Given the description of an element on the screen output the (x, y) to click on. 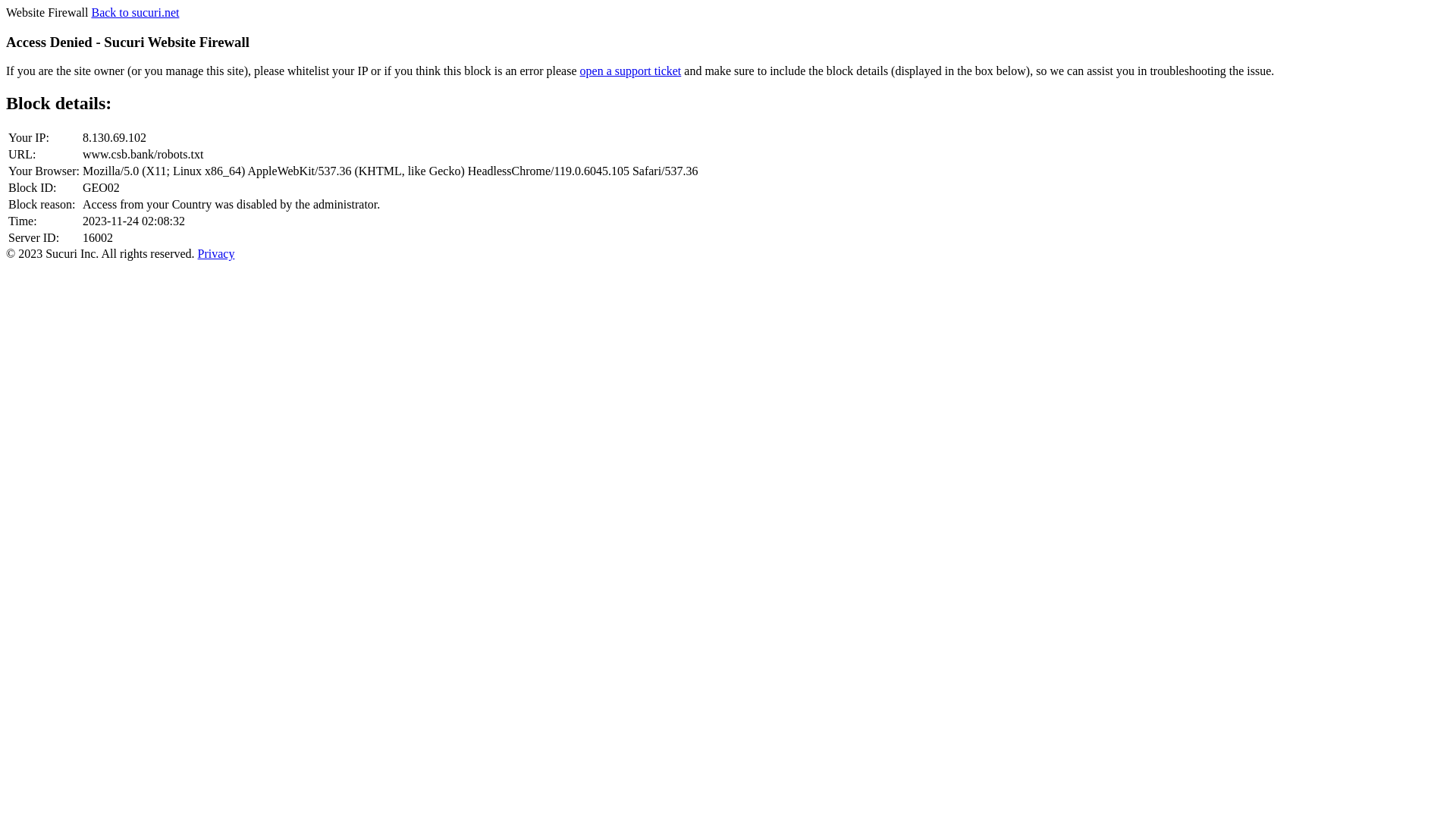
Back to sucuri.net Element type: text (134, 12)
Privacy Element type: text (216, 253)
open a support ticket Element type: text (630, 70)
